Given the description of an element on the screen output the (x, y) to click on. 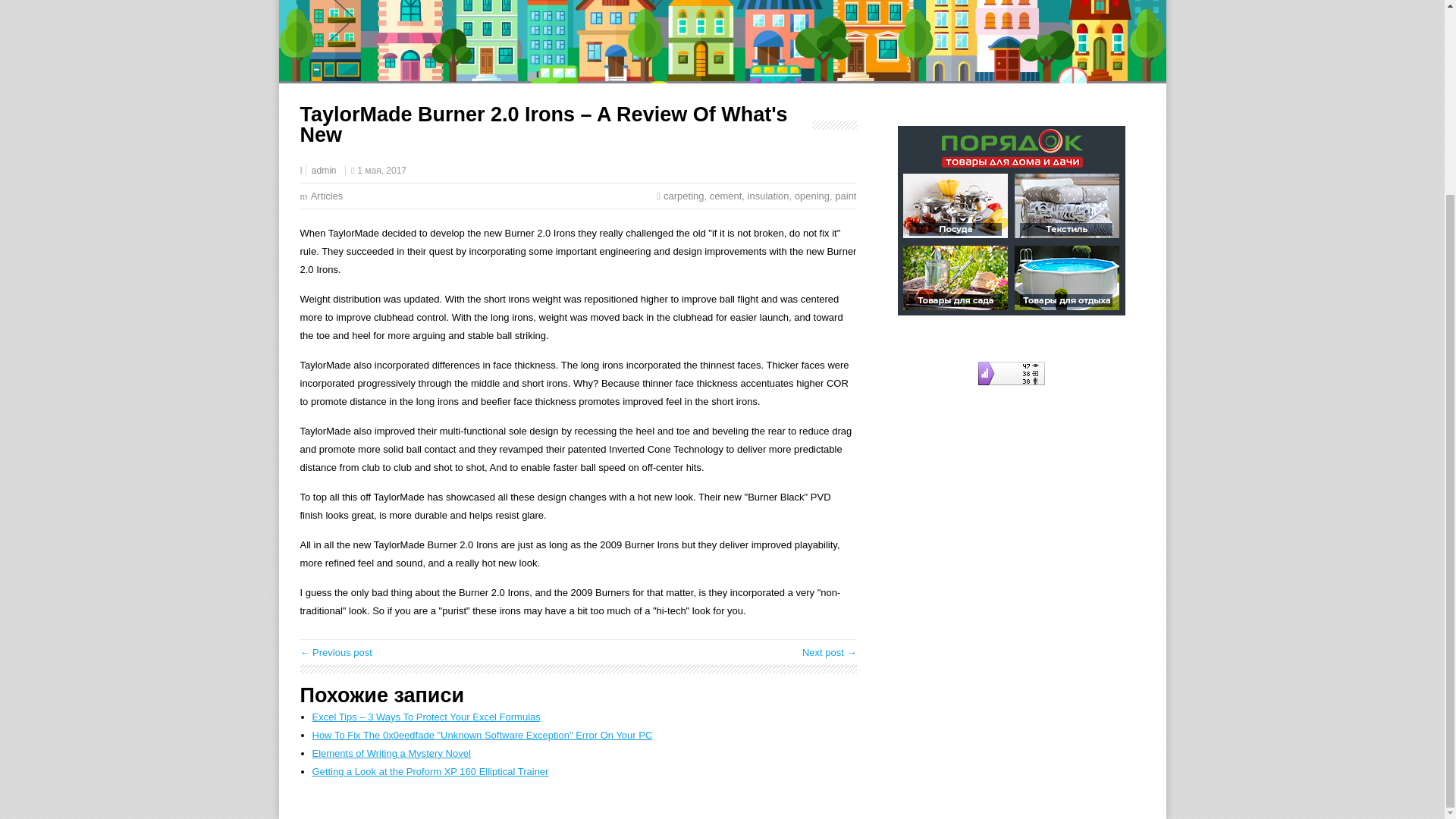
Getting a Look at the Proform XP 160 Elliptical Trainer (430, 771)
insulation (768, 195)
opening (811, 195)
How to Build a Solar Panel For Your Home (829, 652)
Articles (327, 195)
admin (323, 170)
paint (845, 195)
cement (726, 195)
